Given the description of an element on the screen output the (x, y) to click on. 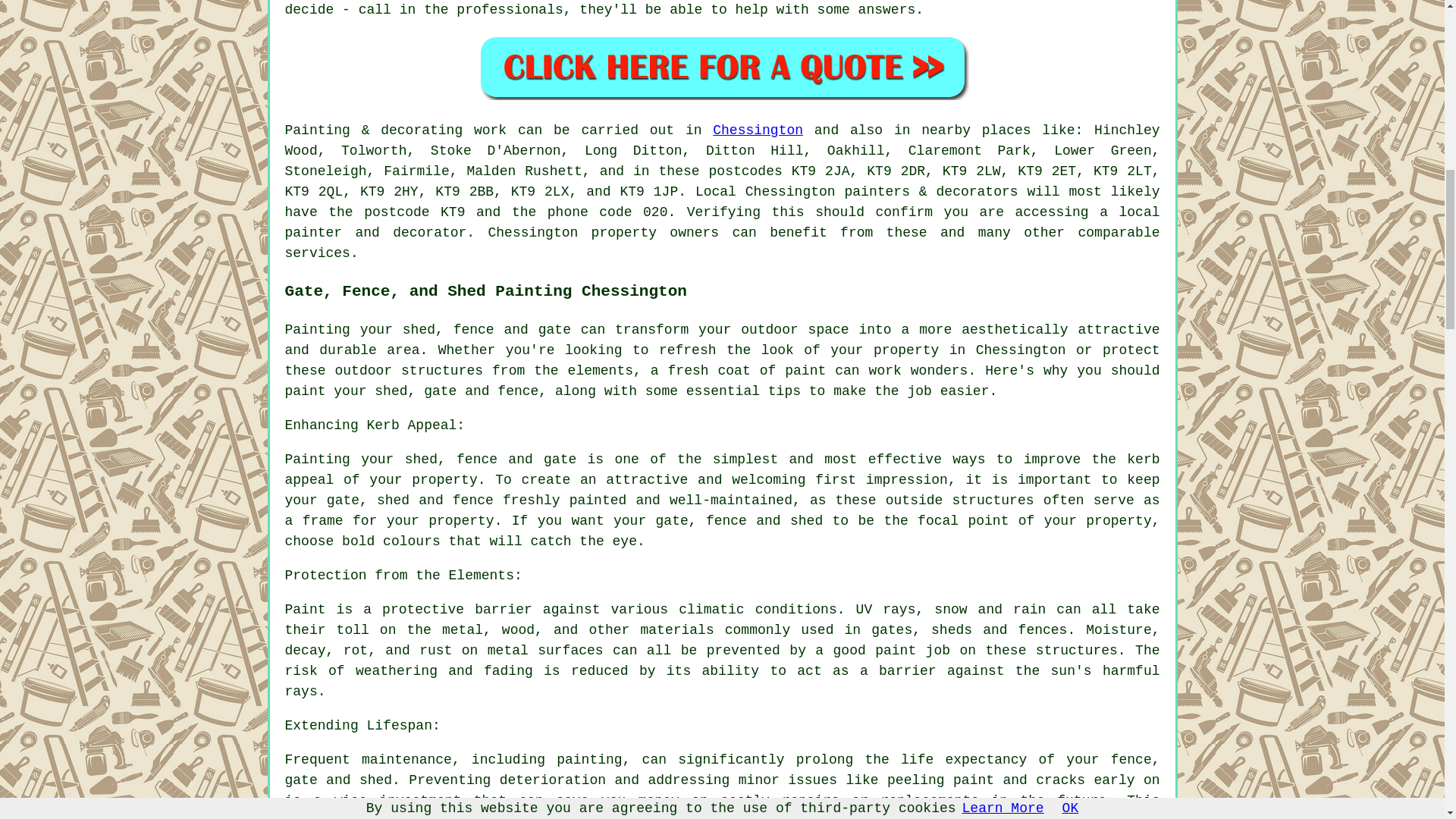
Painting (317, 130)
painter and decorator (376, 232)
painters (877, 191)
Chessington Painter and Decorator Quotes (722, 66)
